Given the description of an element on the screen output the (x, y) to click on. 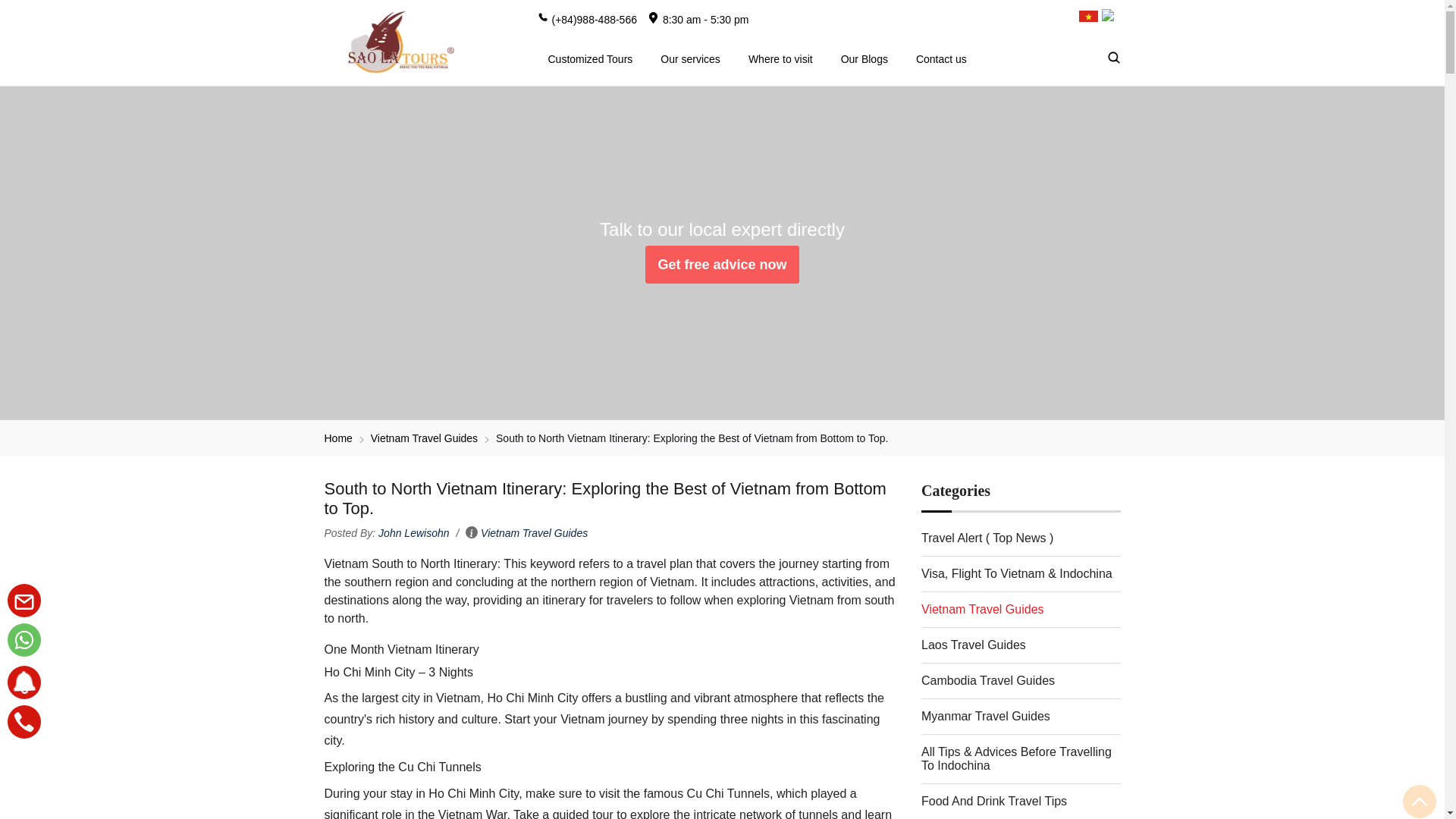
Our Blogs (864, 57)
Customized Tours (591, 57)
Contact us (721, 264)
Home (338, 438)
Our services (690, 57)
Vietnam Travel Guides (424, 438)
Vietnam Travel Guides (424, 438)
Saolatours (338, 438)
Contact us (941, 57)
Saolatours (396, 43)
search (1136, 57)
Vietnam Travel Guides (534, 532)
8:30 am - 5:30 pm (698, 17)
Get free advice now (721, 264)
Vietnam Travel Guides (534, 532)
